Given the description of an element on the screen output the (x, y) to click on. 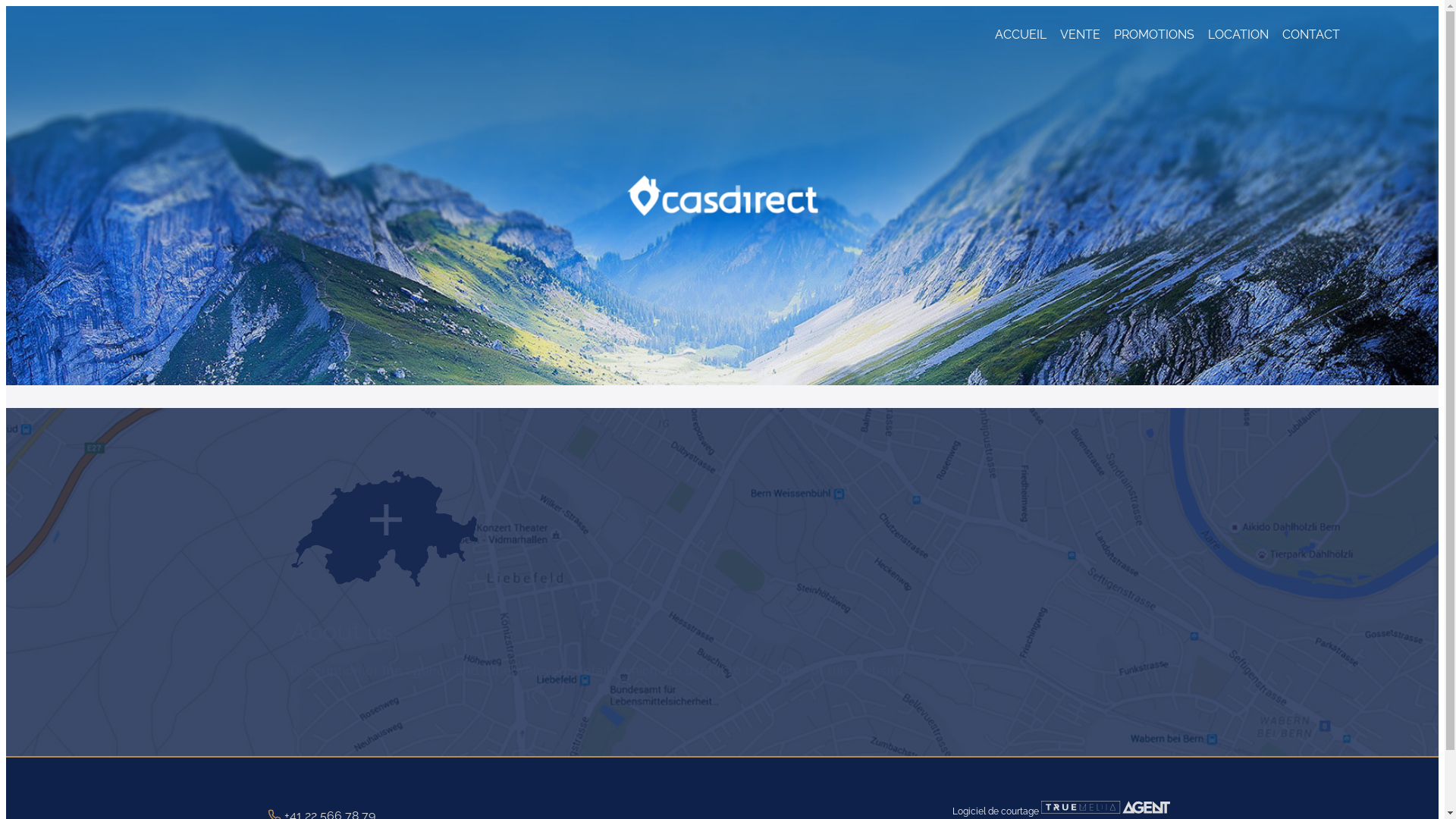
ACCUEIL Element type: text (1020, 43)
VENTE Element type: text (1079, 43)
CasaDirect.ch Element type: text (722, 195)
PROMOTIONS Element type: text (1153, 43)
LOCATION Element type: text (1237, 43)
CONTACT Element type: text (1310, 43)
